Given the description of an element on the screen output the (x, y) to click on. 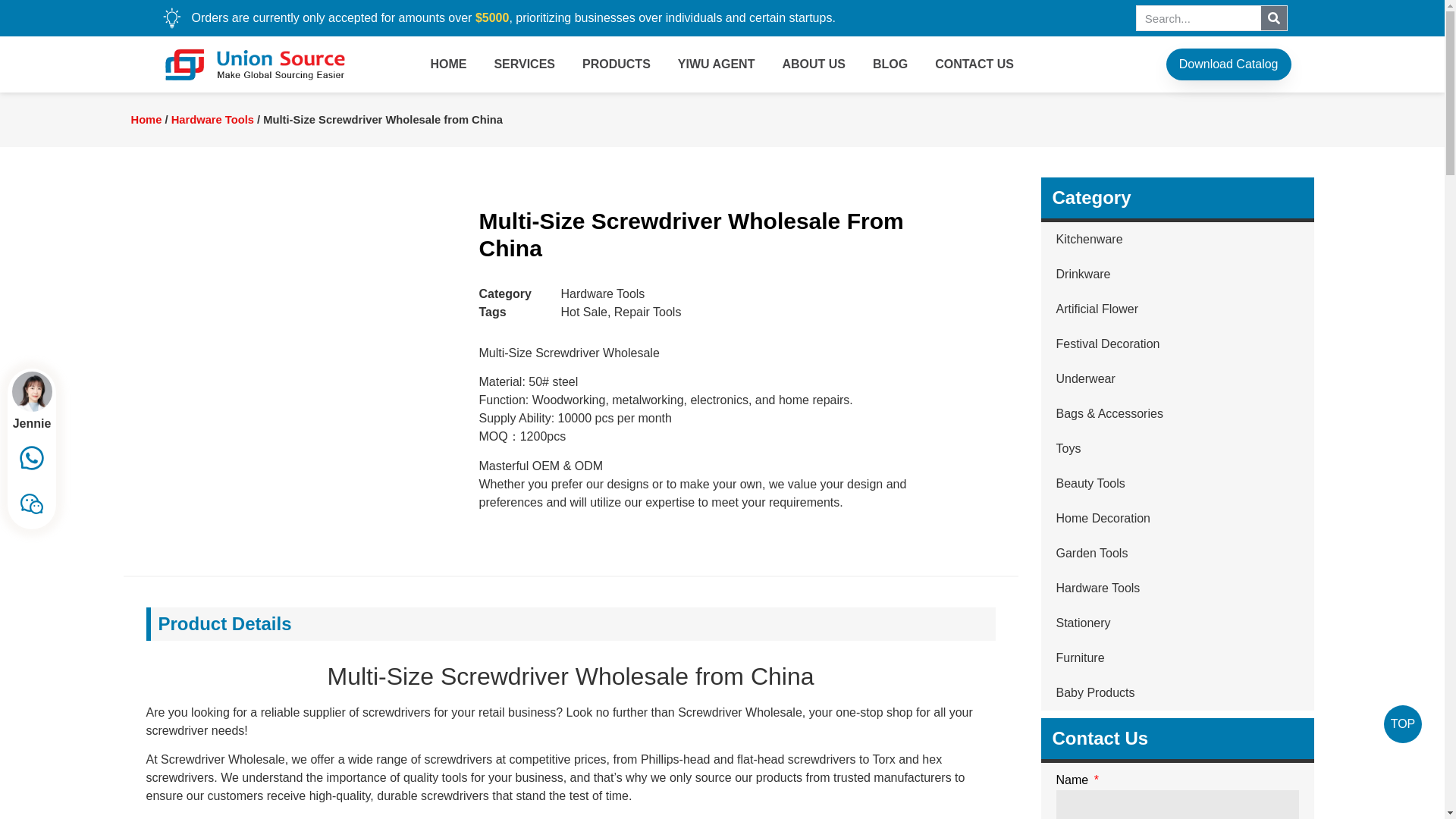
HOME (448, 63)
PRODUCTS (616, 63)
SERVICES (524, 63)
